Given the description of an element on the screen output the (x, y) to click on. 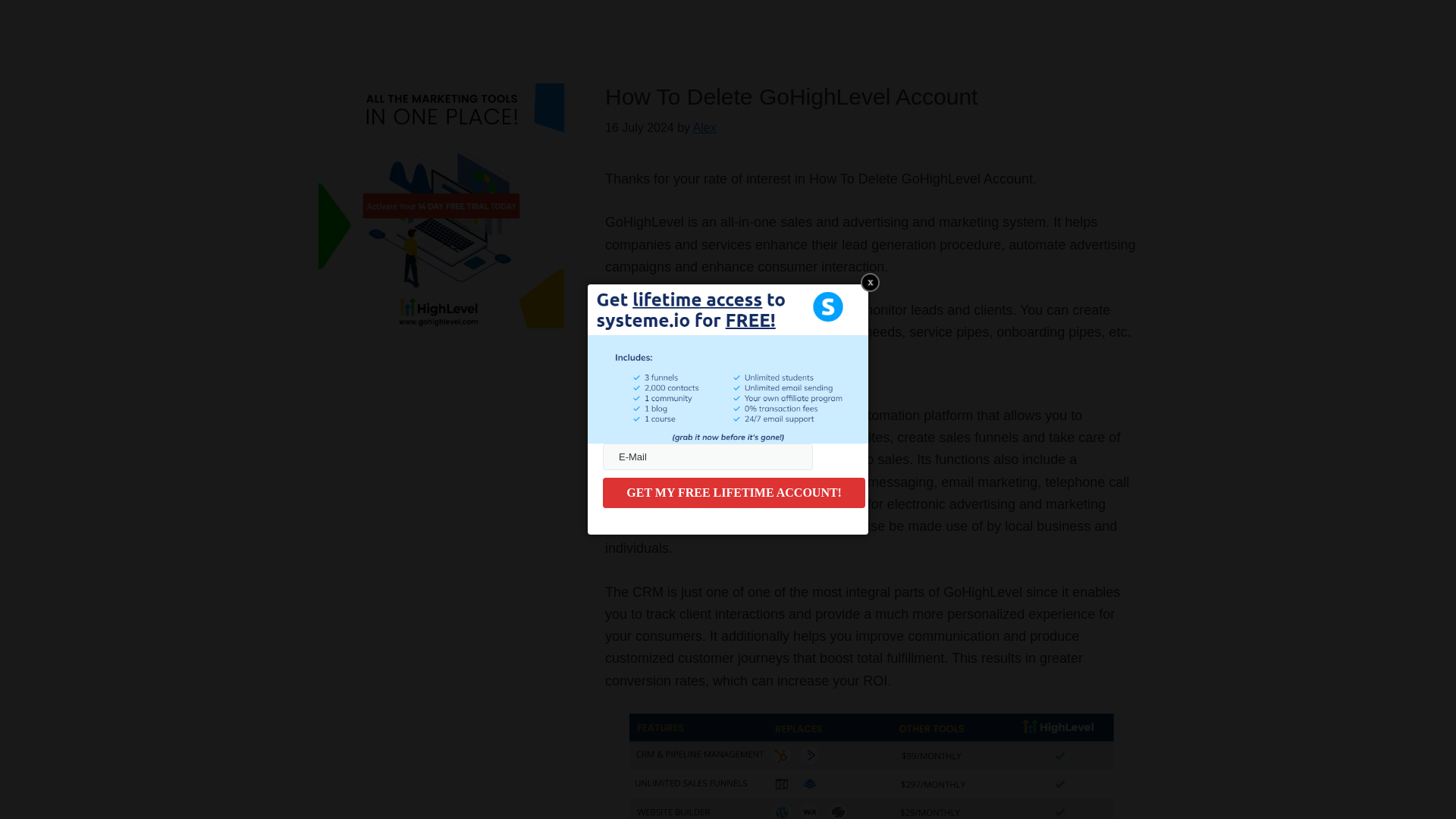
GET MY FREE LIFETIME ACCOUNT! (733, 492)
How To Delete GoHighLevel Account (790, 96)
Alex (704, 127)
GET MY FREE LIFETIME ACCOUNT! (733, 492)
